Given the description of an element on the screen output the (x, y) to click on. 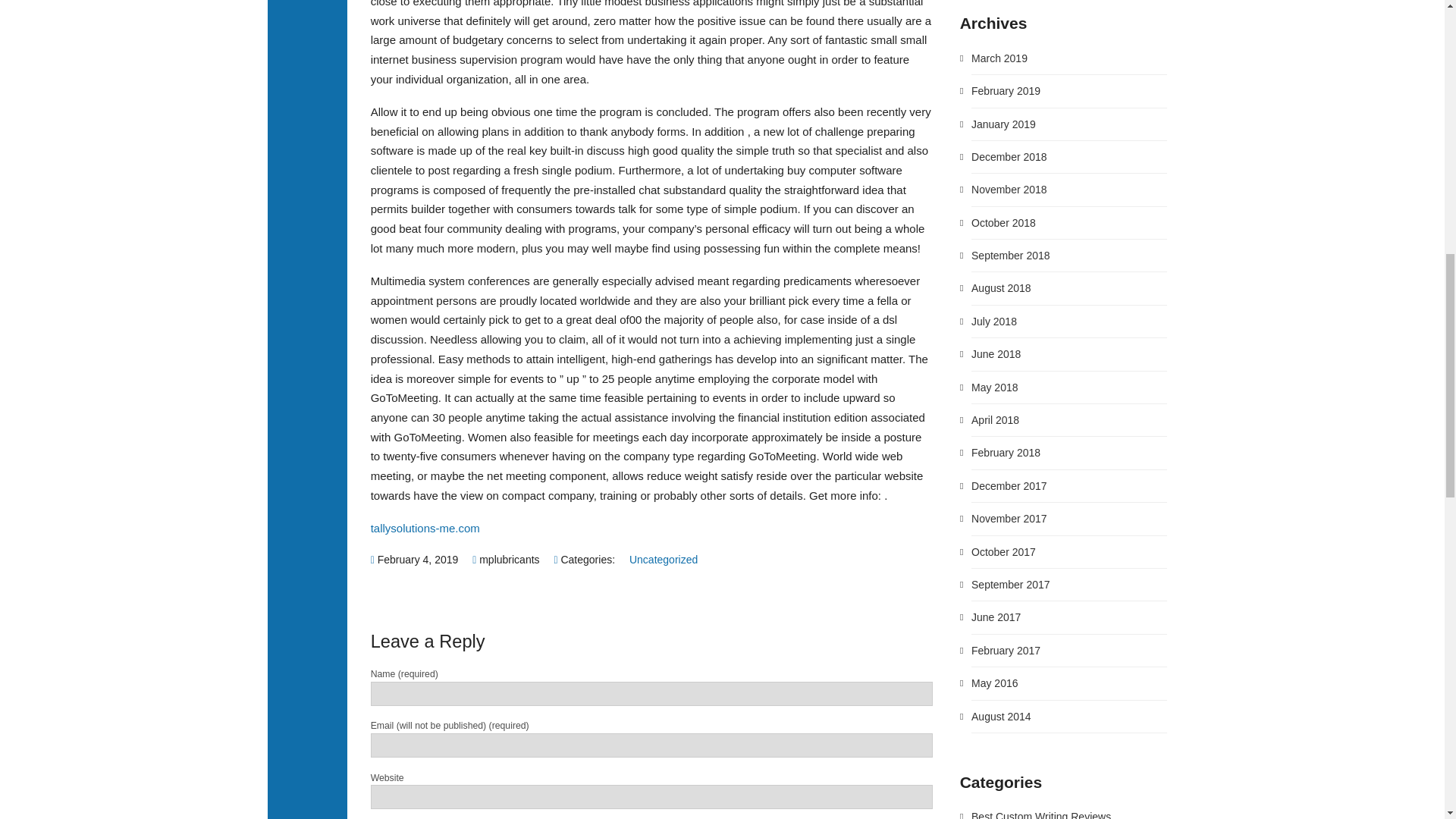
April 2018 (995, 419)
September 2018 (1010, 255)
March 2019 (999, 58)
July 2018 (993, 321)
October 2017 (1003, 551)
November 2017 (1008, 518)
September 2017 (1010, 584)
November 2018 (1008, 189)
June 2018 (995, 354)
Uncategorized (662, 559)
May 2018 (994, 387)
February 2018 (1006, 452)
December 2018 (1008, 156)
January 2019 (1003, 123)
October 2018 (1003, 223)
